Given the description of an element on the screen output the (x, y) to click on. 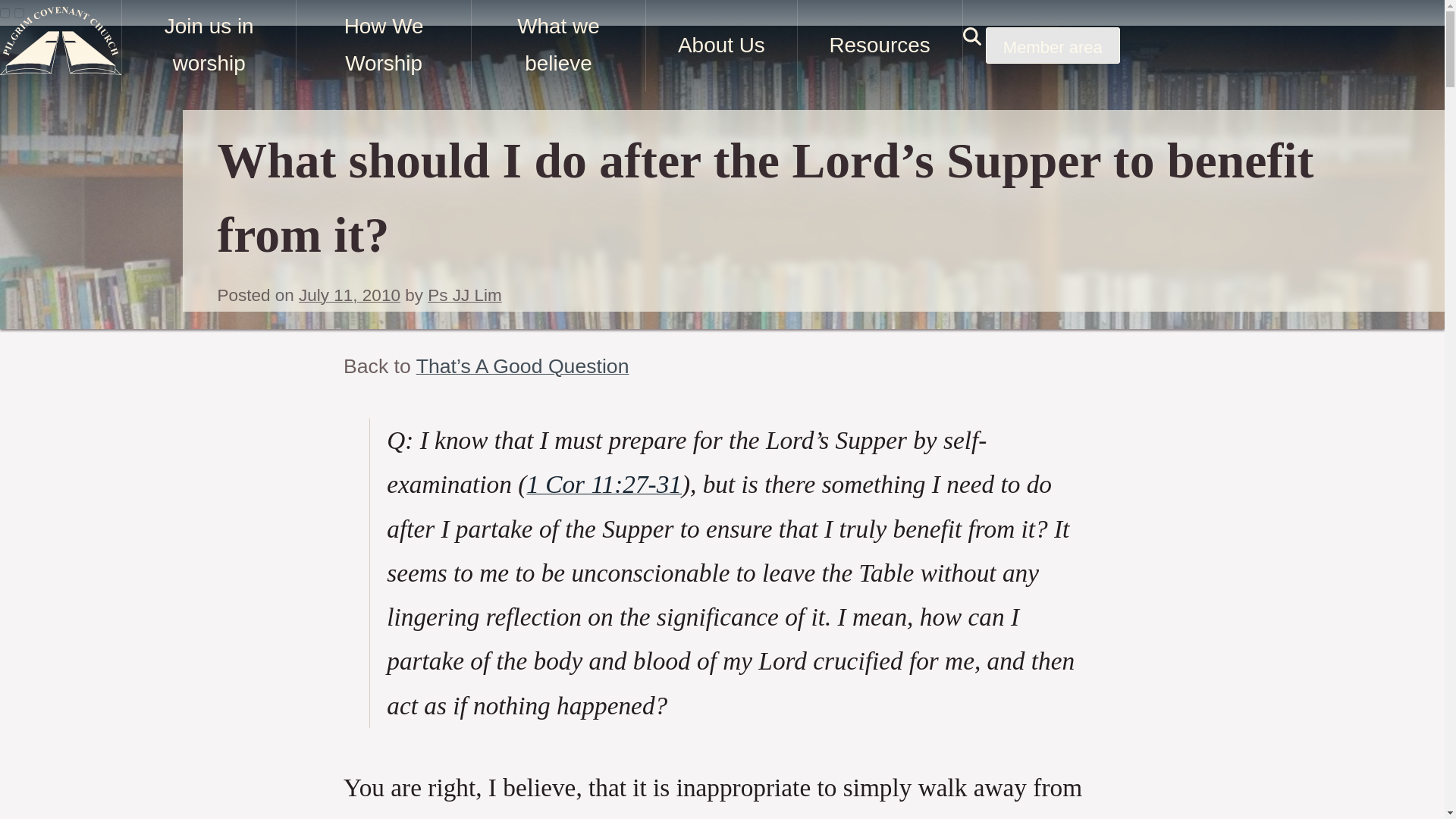
How We Worship (382, 45)
on (19, 13)
Join us in worship (207, 45)
on (5, 13)
Resources (879, 45)
About Us (720, 45)
What we believe (557, 45)
